Given the description of an element on the screen output the (x, y) to click on. 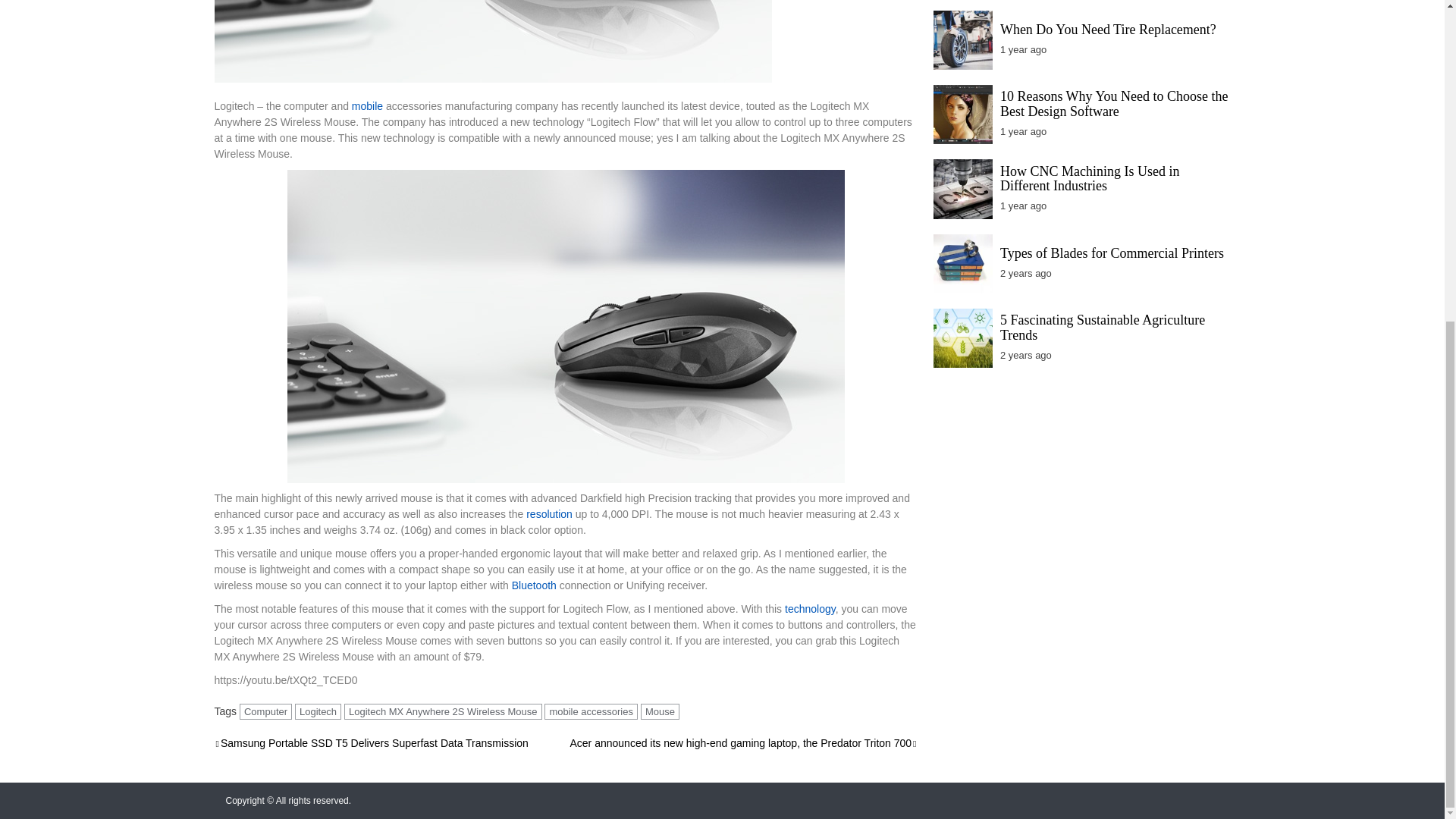
resolution (548, 513)
Mouse (659, 711)
10 Reasons Why You Need to Choose the Best Design Software (1114, 103)
mobile (367, 105)
technology (808, 608)
Bluetooth (532, 585)
Logitech MX Anywhere 2S Wireless Mouse (442, 711)
mobile accessories (590, 711)
Computer (266, 711)
Samsung Portable SSD T5 Delivers Superfast Data Transmission (370, 743)
When Do You Need Tire Replacement? (1107, 29)
Logitech (317, 711)
Advertisement (1081, 401)
